Given the description of an element on the screen output the (x, y) to click on. 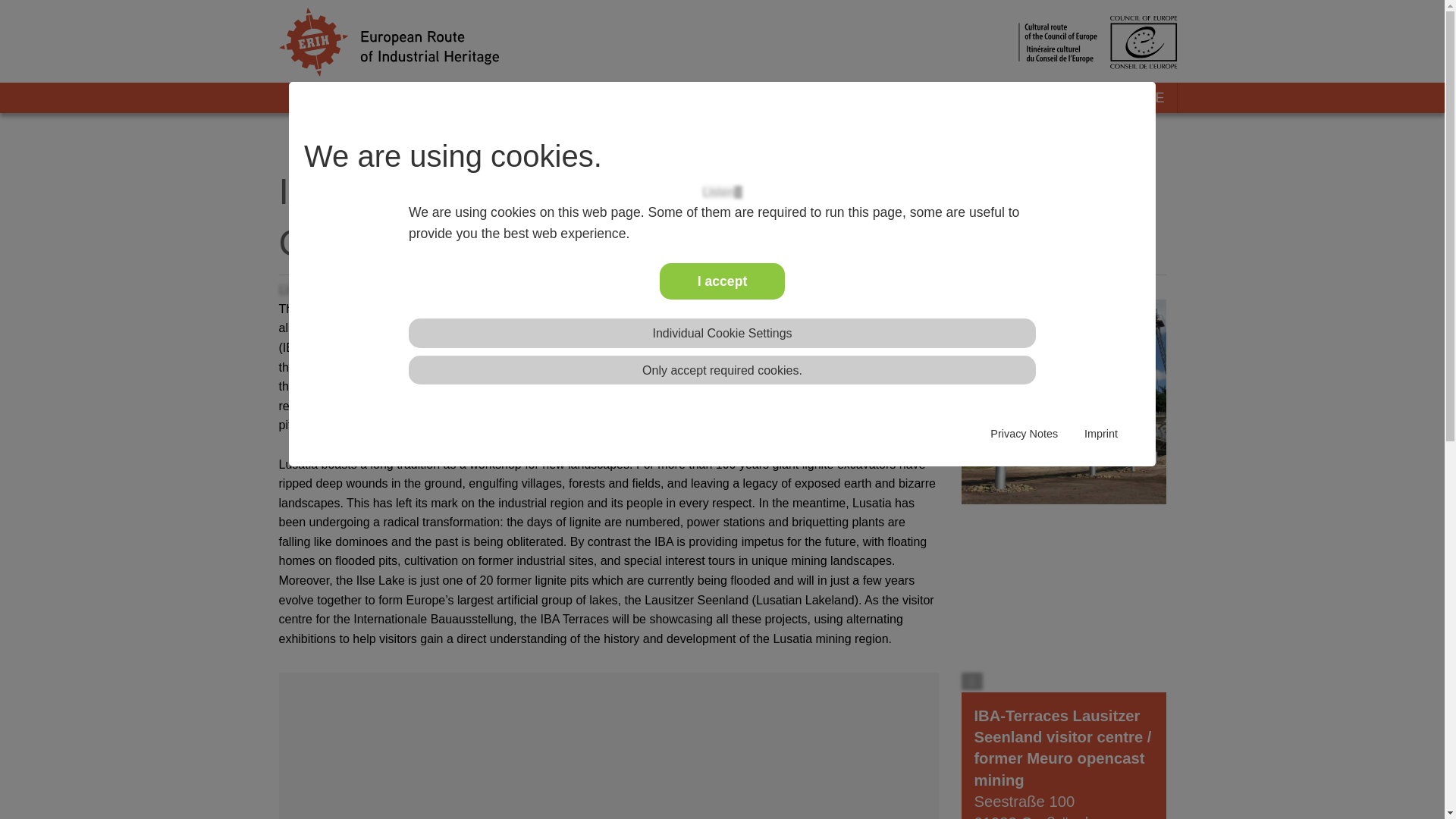
I accept (722, 280)
Only accept required cookies. (722, 369)
Privacy Notes (1024, 434)
Individual Cookie Settings (722, 332)
Listen (721, 192)
Imprint (1101, 434)
Please accept Cookies in Order to use this service (721, 192)
